Given the description of an element on the screen output the (x, y) to click on. 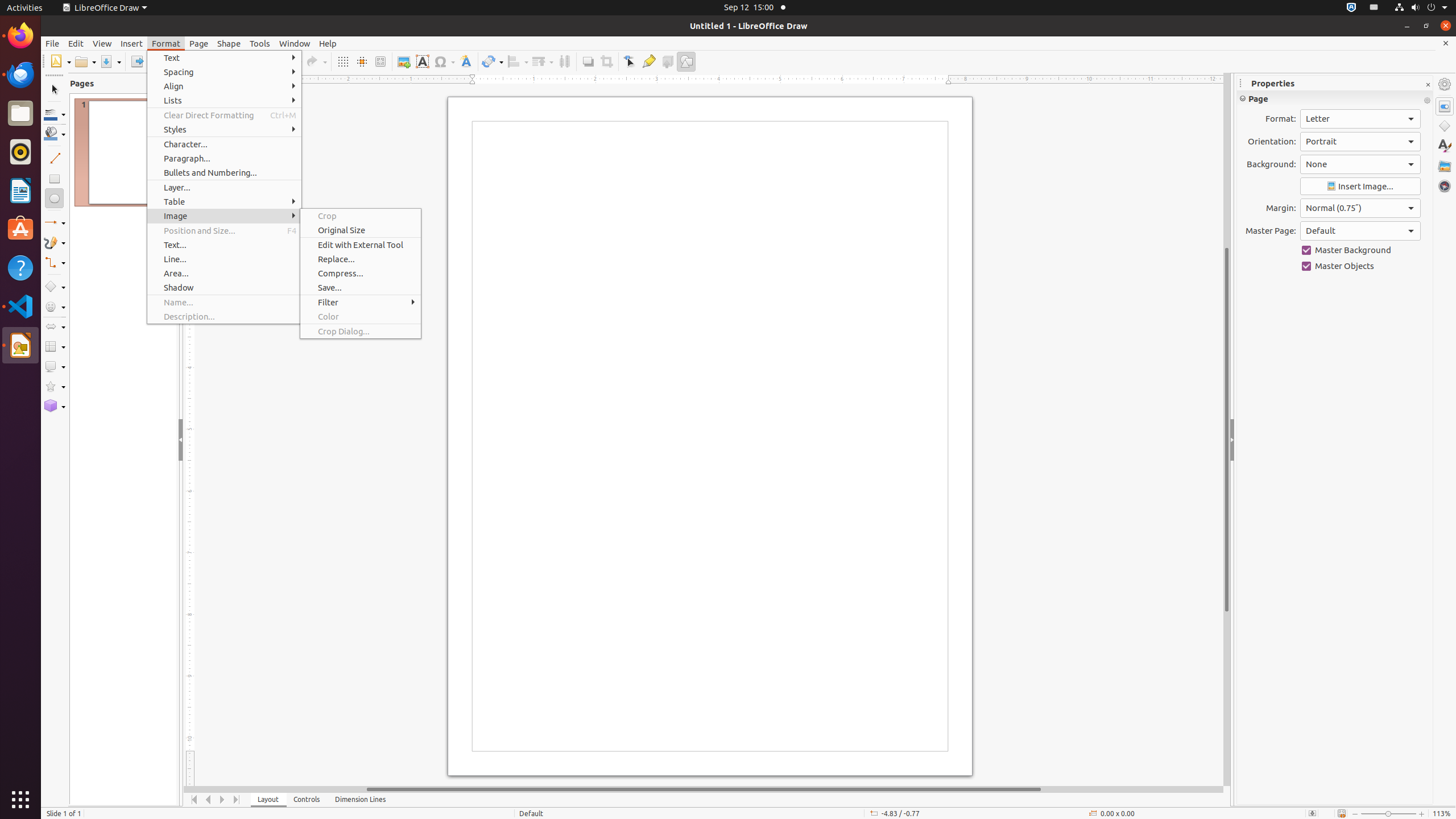
Arrange Element type: push-button (542, 61)
Dimension Lines Element type: page-tab (360, 799)
Line... Element type: menu-item (224, 258)
Position and Size... Element type: menu-item (224, 230)
Page Element type: menu (198, 43)
